Given the description of an element on the screen output the (x, y) to click on. 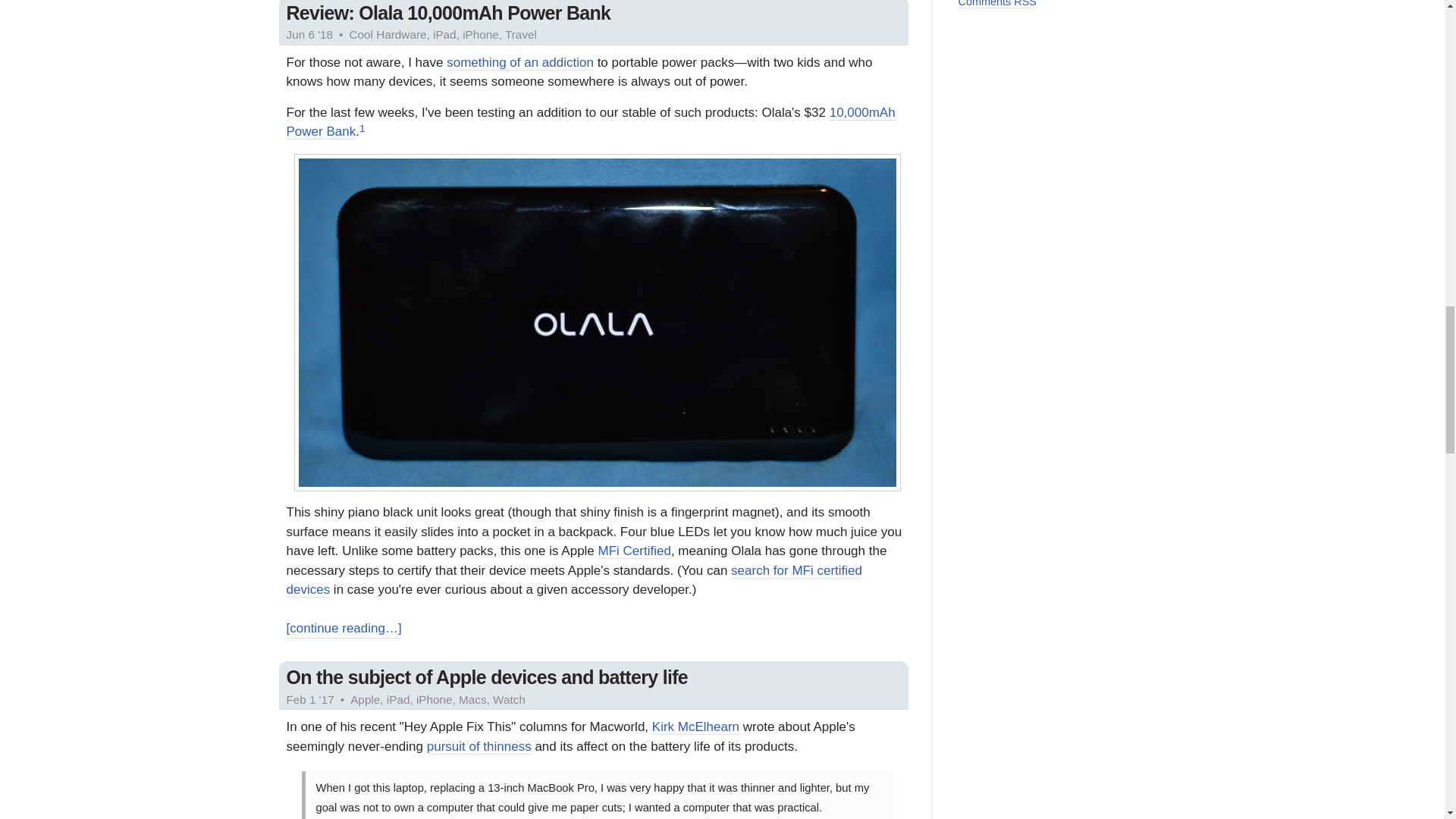
MFi Certified (634, 550)
Travel (521, 33)
something of an addiction (520, 62)
iPad (398, 698)
Cool Hardware (387, 33)
Review: Olala 10,000mAh Power Bank (448, 12)
On the subject of Apple devices and battery life (487, 676)
iPhone (434, 698)
10,000mAh Power Bank (590, 122)
Apple (365, 698)
